Given the description of an element on the screen output the (x, y) to click on. 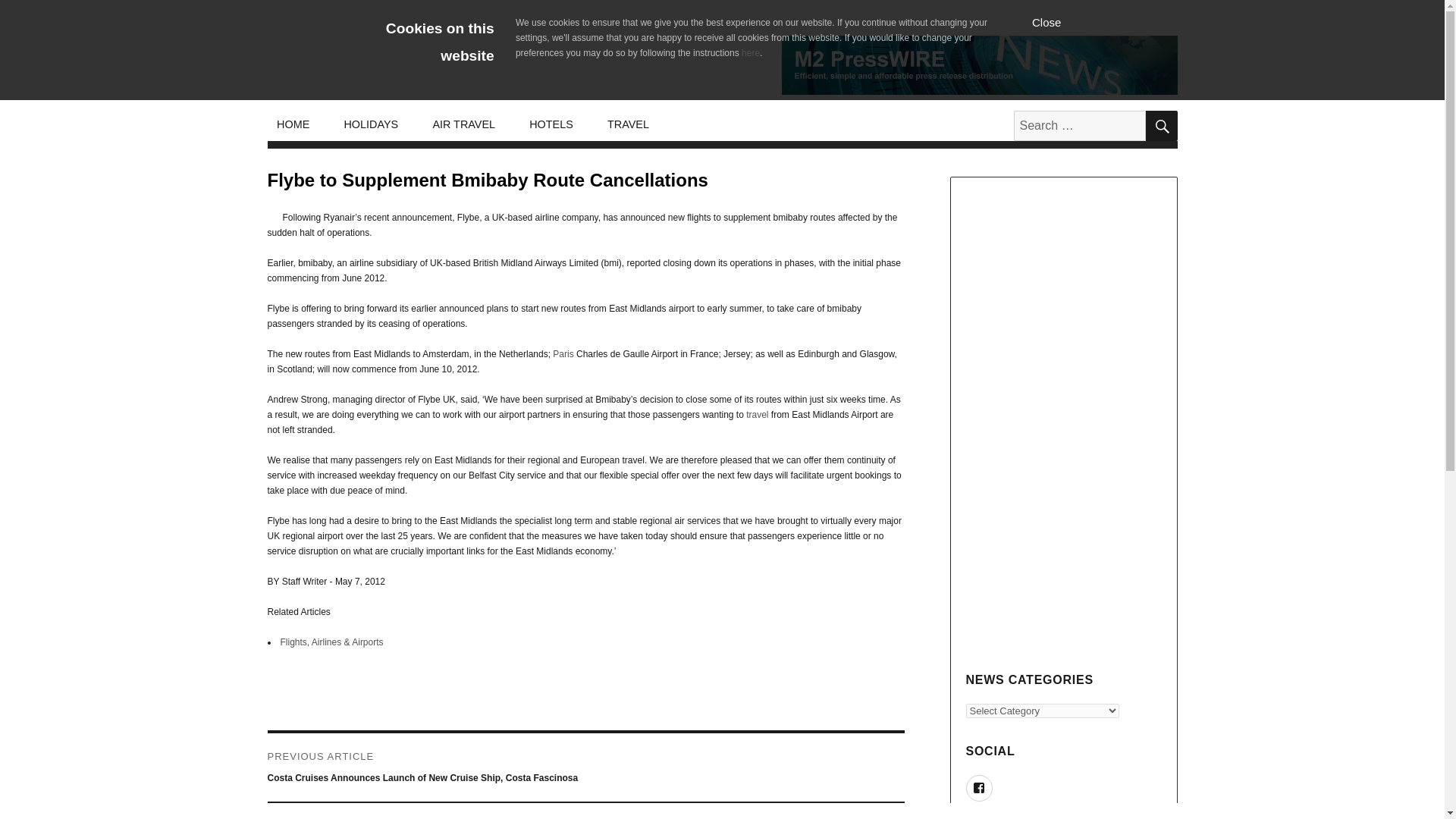
HOLIDAYS (370, 124)
AIR TRAVEL (464, 124)
travel (756, 414)
here (750, 52)
FACEBOOK (979, 787)
SEARCH (1160, 125)
HOTELS (551, 124)
TRAVEL (627, 124)
HOME (292, 124)
